Given the description of an element on the screen output the (x, y) to click on. 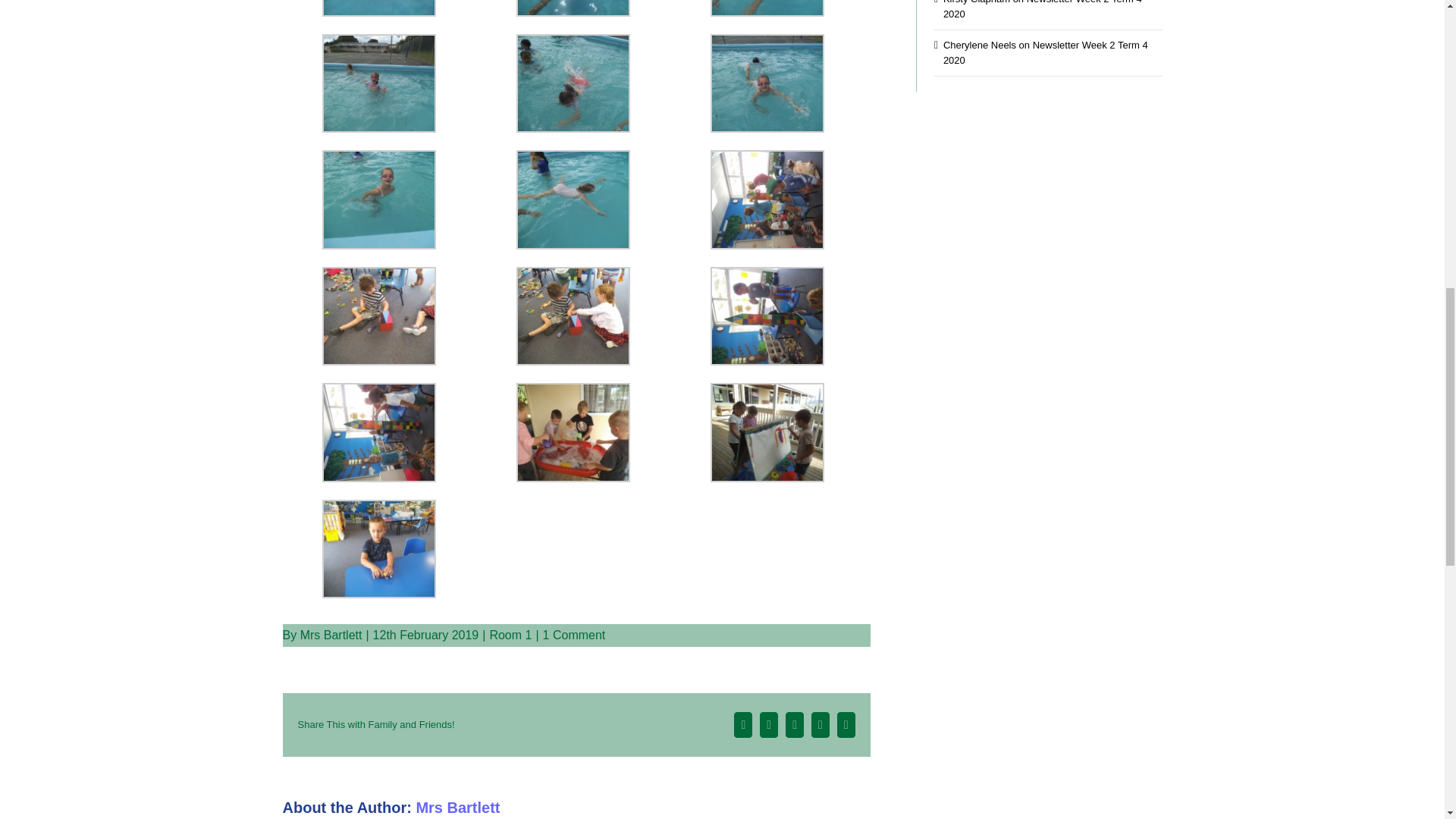
Posts by Mrs Bartlett (330, 634)
Posts by Mrs Bartlett (456, 807)
